Given the description of an element on the screen output the (x, y) to click on. 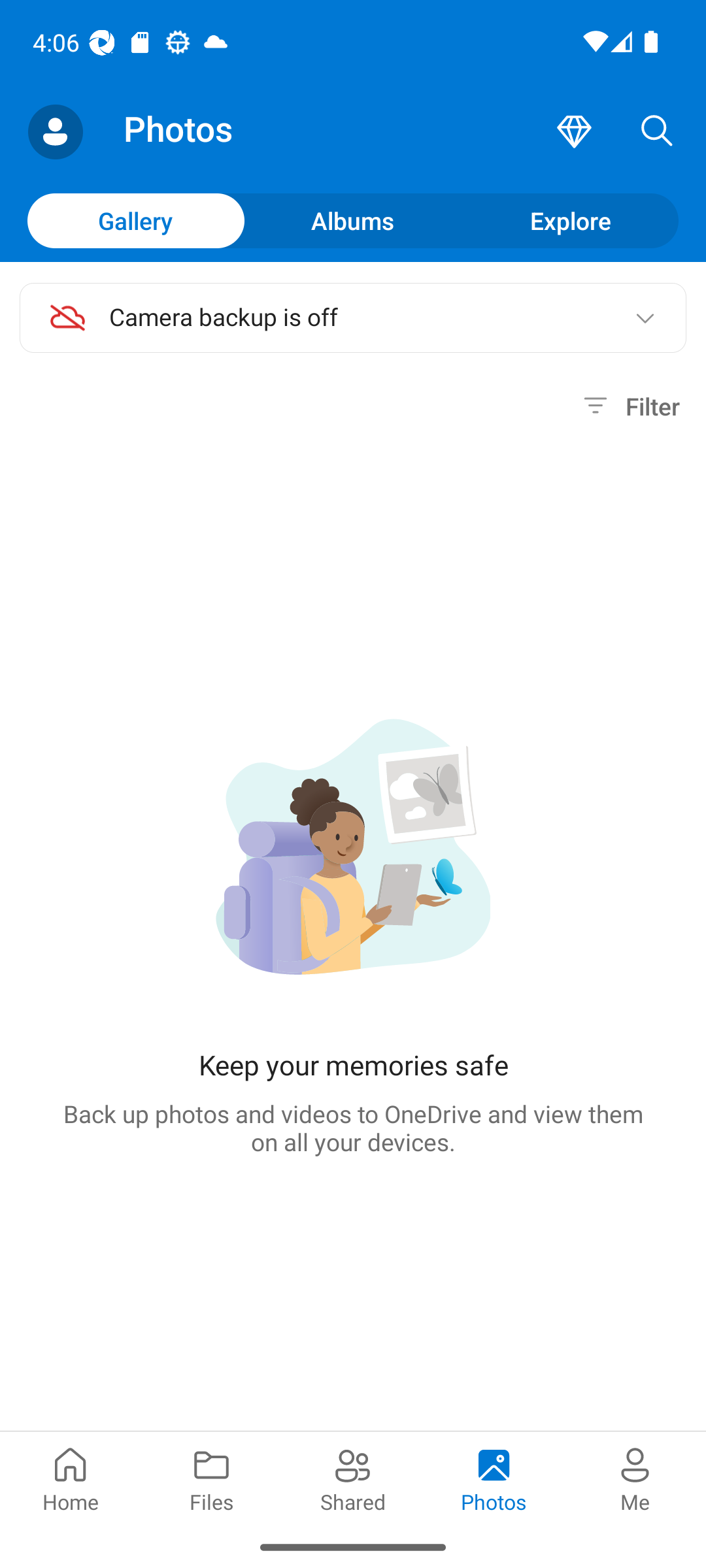
Account switcher (55, 131)
Premium button (574, 131)
Search button (656, 131)
Albums (352, 219)
Explore (569, 219)
Expand camera status banner (645, 318)
Filter (628, 405)
Home pivot Home (70, 1478)
Files pivot Files (211, 1478)
Shared pivot Shared (352, 1478)
Me pivot Me (635, 1478)
